Given the description of an element on the screen output the (x, y) to click on. 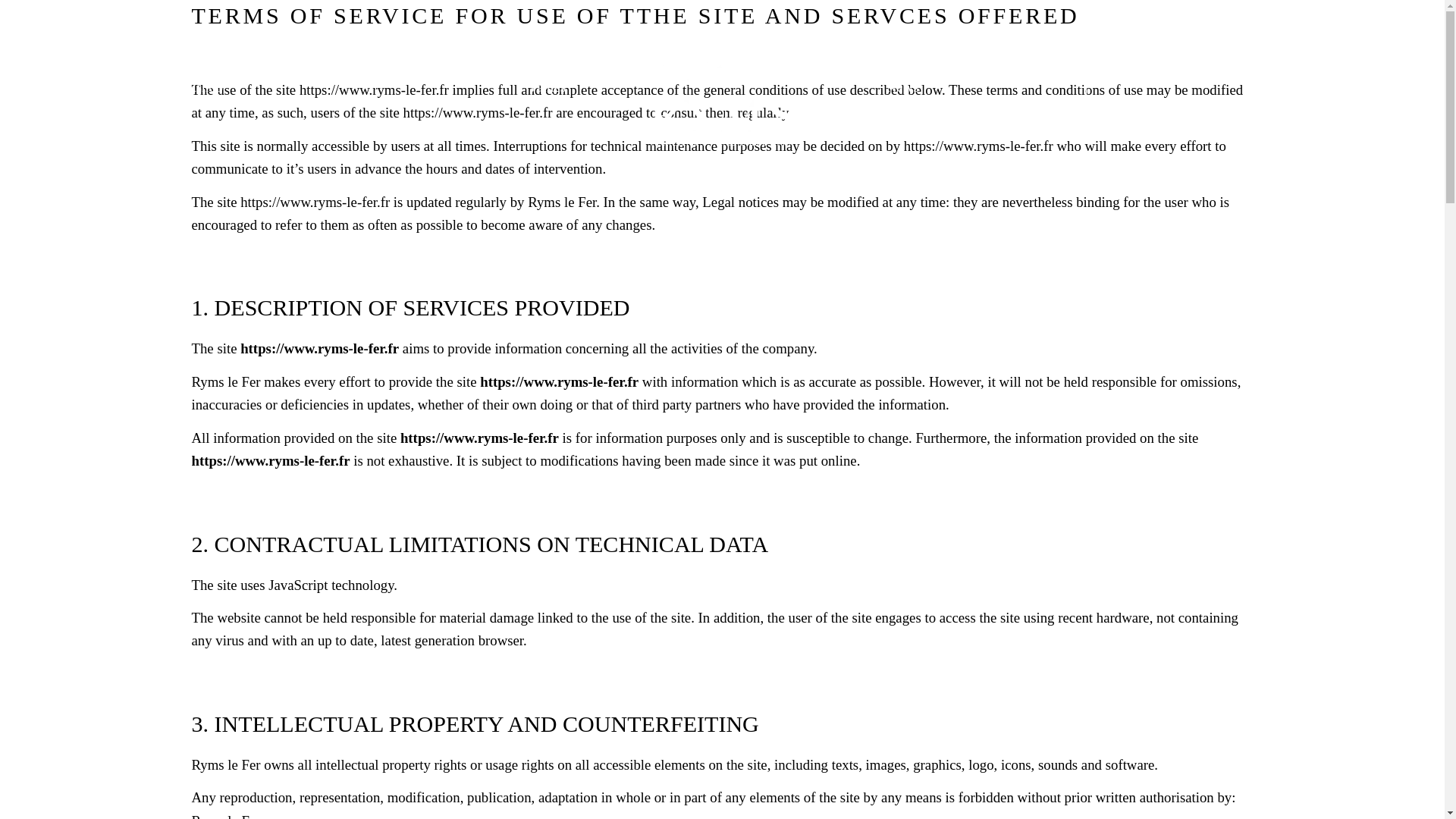
EN (1399, 23)
News (902, 87)
The Workshop (180, 87)
Values (546, 87)
Contact (1275, 87)
FR (1349, 23)
